Given the description of an element on the screen output the (x, y) to click on. 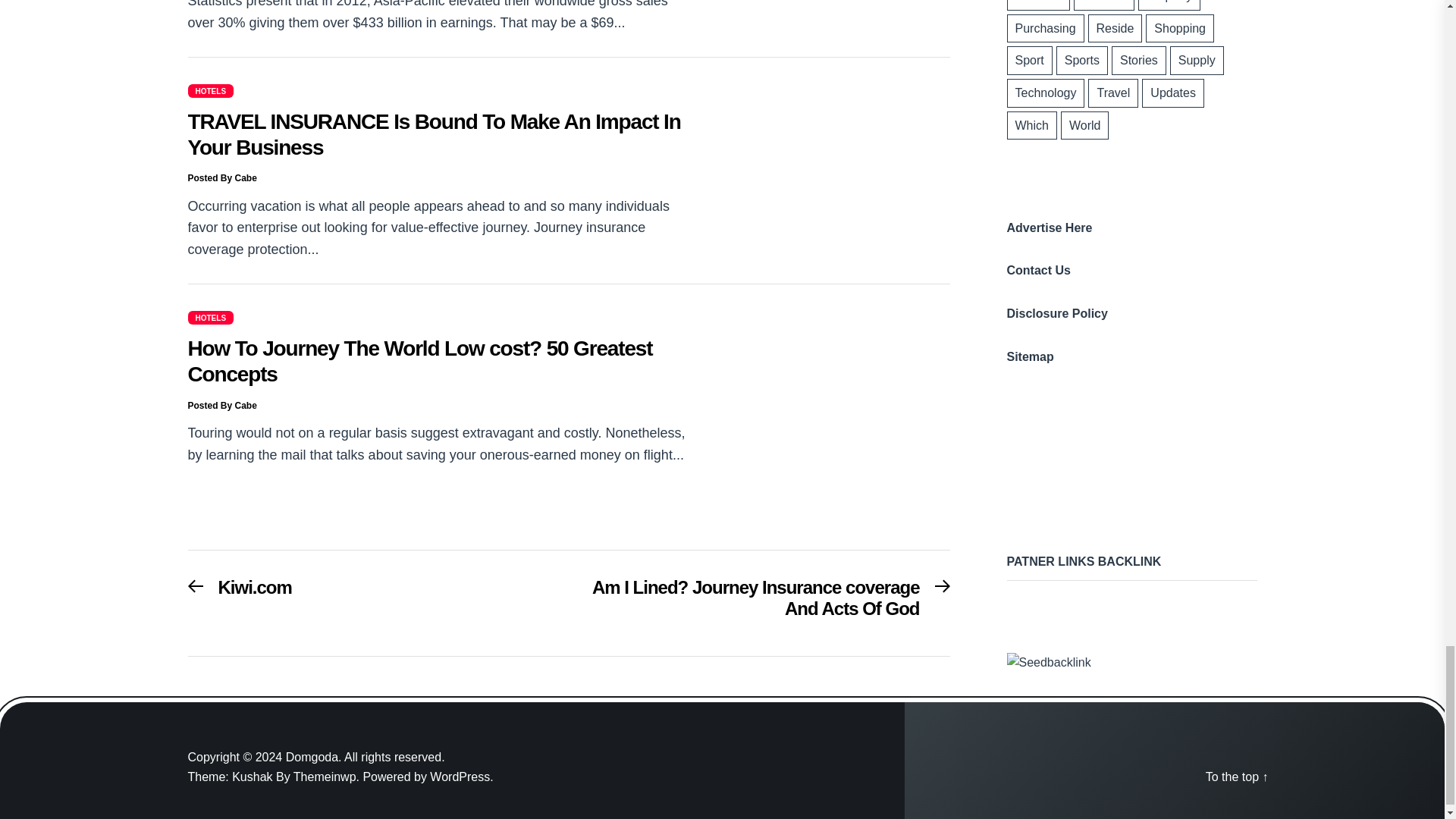
Domgoda (314, 757)
Themeinwp (328, 776)
How To Journey The World Low cost? 50 Greatest Concepts (419, 360)
TRAVEL INSURANCE Is Bound To Make An Impact In Your Business (434, 133)
HOTELS (210, 317)
Am I Lined? Journey Insurance coverage And Acts Of God (766, 603)
Posted By Cabe (222, 177)
WordPress (461, 776)
Posted By Cabe (222, 405)
